Given the description of an element on the screen output the (x, y) to click on. 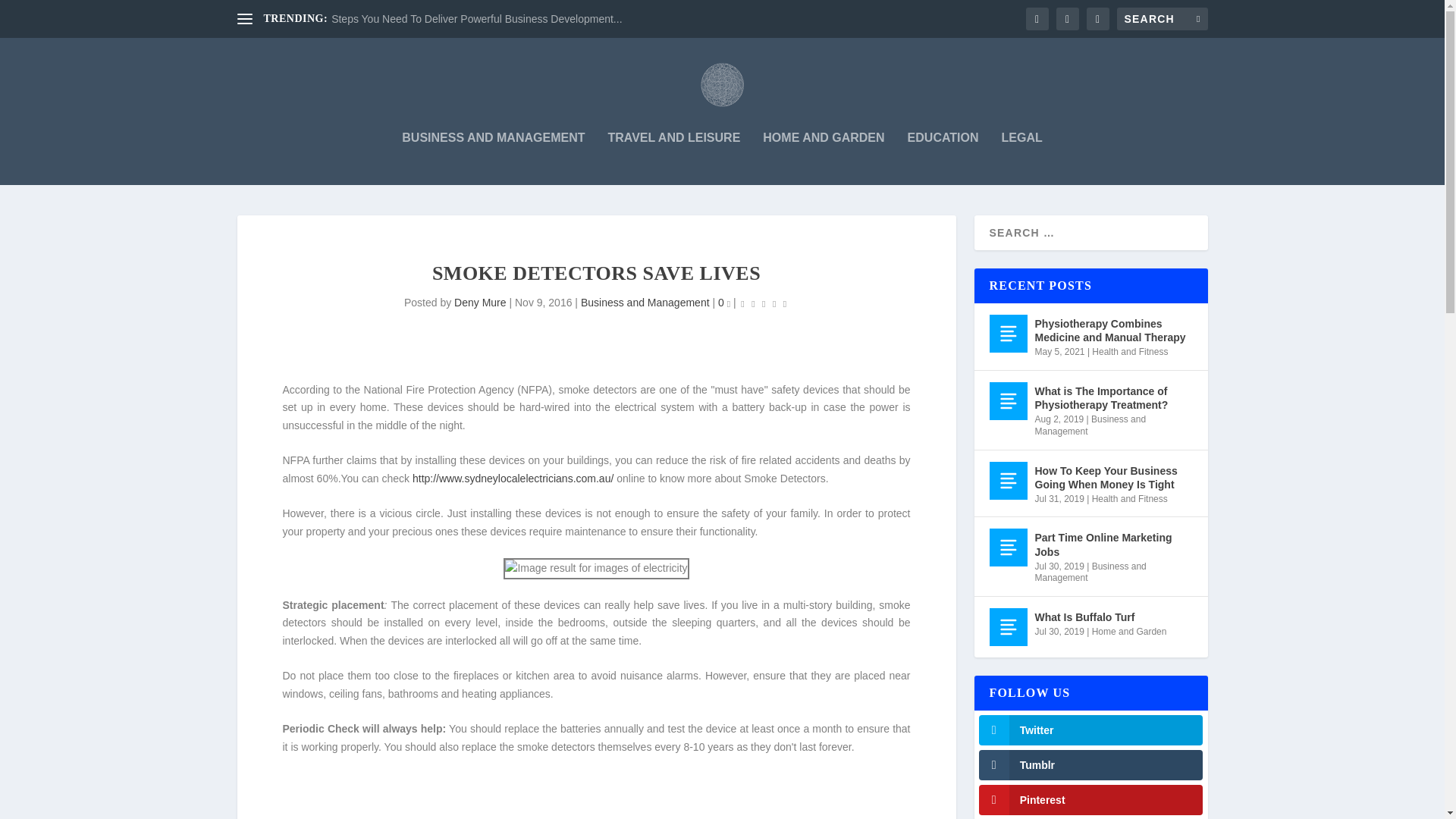
HOME AND GARDEN (822, 158)
Business and Management (645, 302)
Deny Mure (479, 302)
BUSINESS AND MANAGEMENT (493, 158)
Posts by Deny Mure (479, 302)
Search for: (1161, 18)
TRAVEL AND LEISURE (673, 158)
Steps You Need To Deliver Powerful Business Development... (476, 19)
0 (723, 302)
EDUCATION (942, 158)
